Given the description of an element on the screen output the (x, y) to click on. 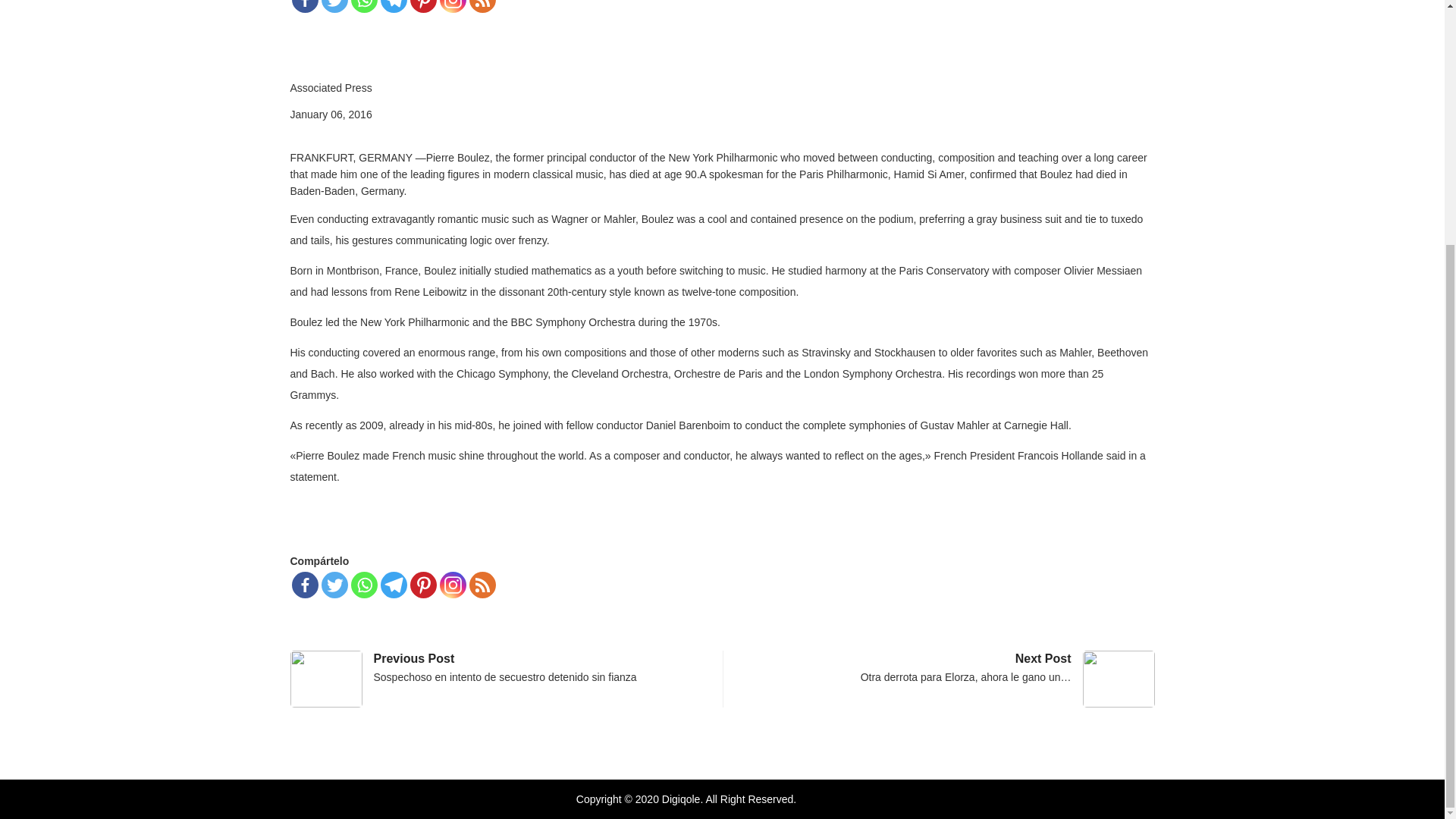
Twitter (334, 584)
RSS Feed (481, 6)
Instagram (452, 584)
Telegram (393, 6)
Pinterest (422, 6)
RSS Feed (481, 584)
Instagram (452, 6)
Facebook (304, 584)
Facebook (304, 6)
Telegram (393, 584)
Whatsapp (363, 584)
Whatsapp (363, 6)
Pinterest (422, 584)
Twitter (334, 6)
